Given the description of an element on the screen output the (x, y) to click on. 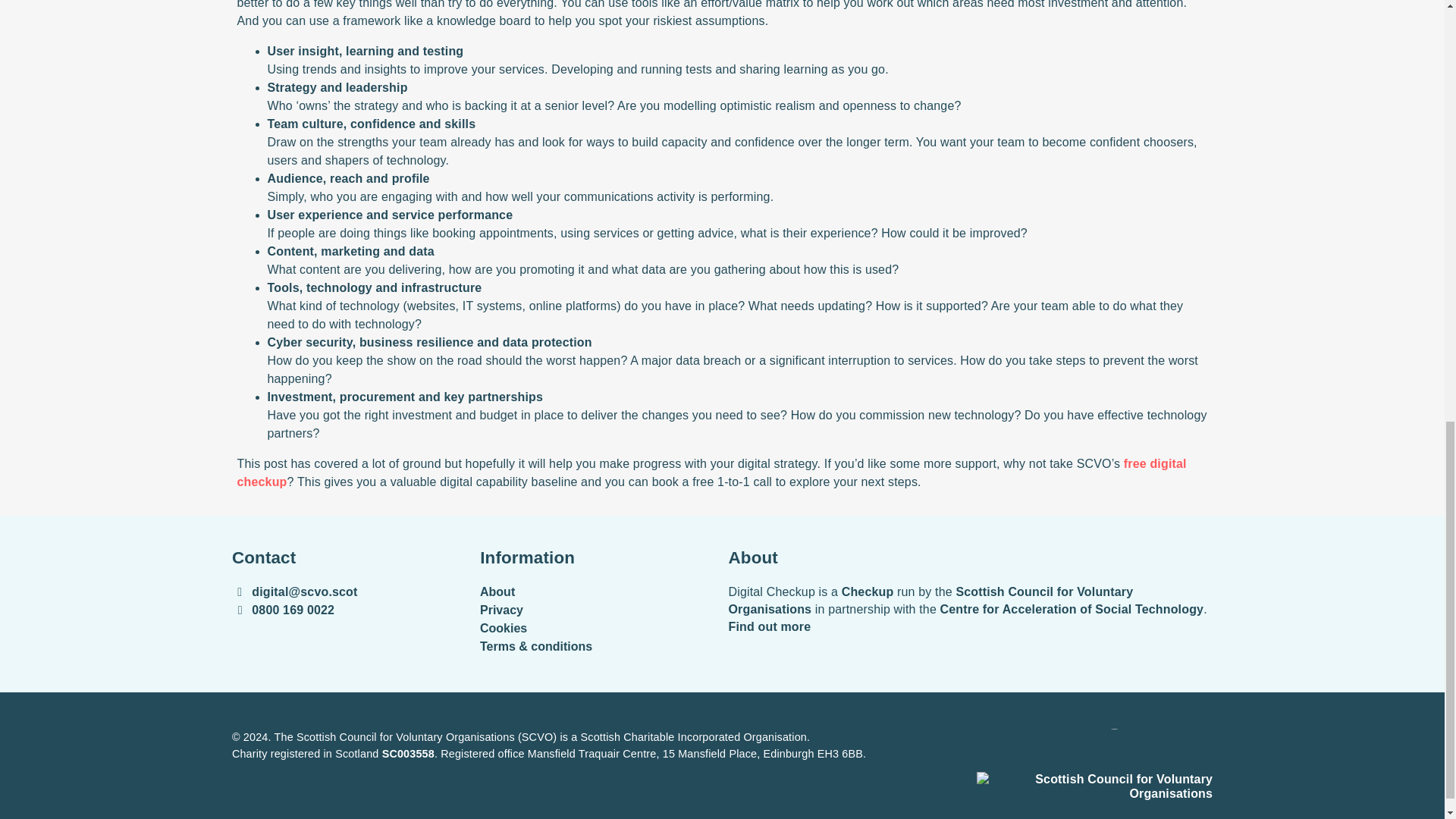
free digital checkup (710, 472)
Privacy (501, 610)
Cookies (503, 628)
SC003558 (407, 753)
0800 169 0022 (292, 609)
Scottish Council for Voluntary Organisations (1094, 786)
Scottish Council for Voluntary Organisations (930, 600)
Centre for Acceleration of Social Technology (1072, 608)
Centre for Acceleration of Social Technology (1147, 750)
About (497, 592)
